Given the description of an element on the screen output the (x, y) to click on. 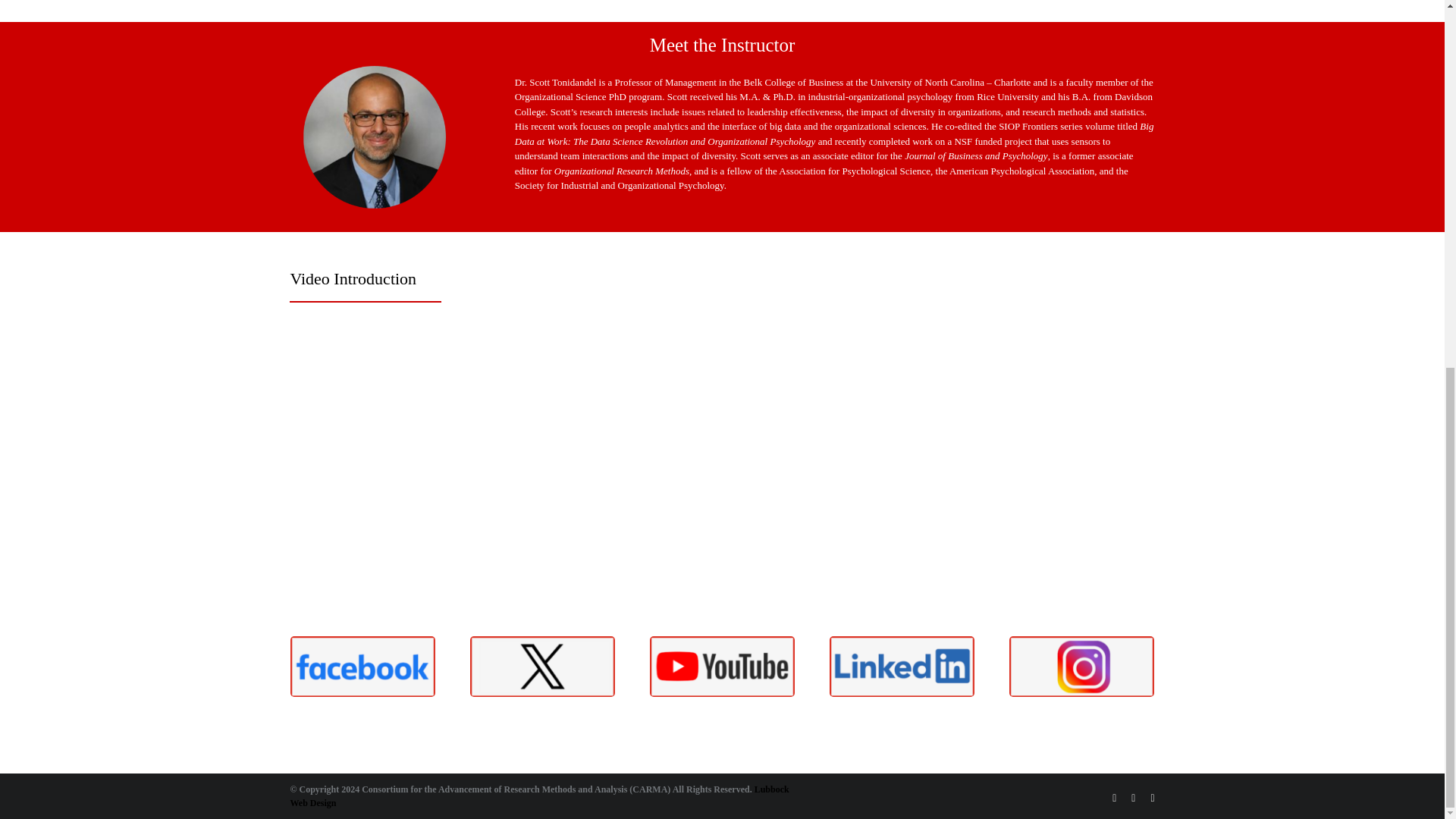
YouTube (1133, 798)
SC Pictures (375, 134)
Facebook (1114, 798)
YouTube video player 1 (516, 453)
Email (1152, 798)
